Given the description of an element on the screen output the (x, y) to click on. 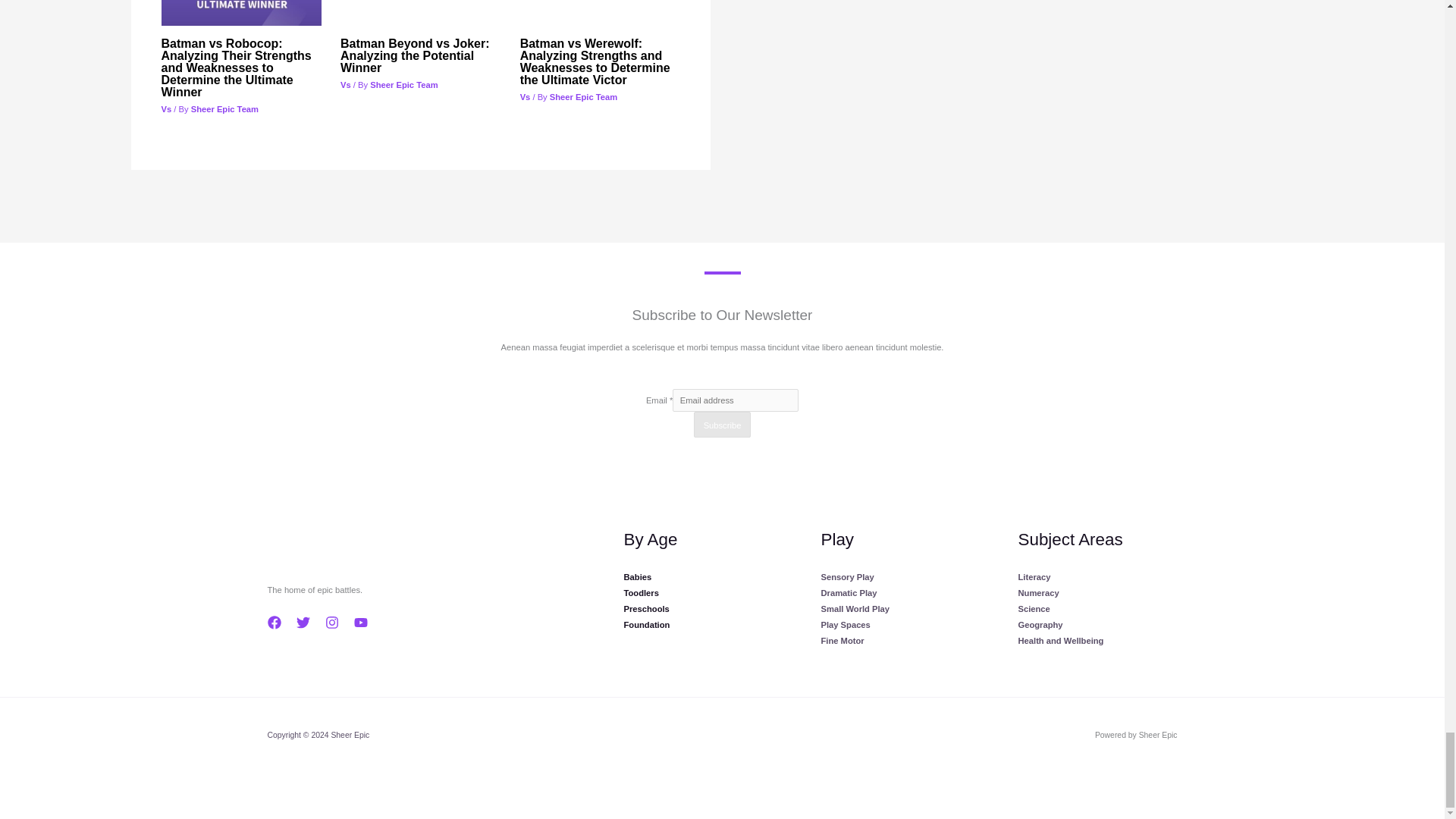
View all posts by Sheer Epic Team (403, 84)
Batman Beyond vs Joker: Analyzing the Potential Winner (414, 55)
Vs (525, 96)
Vs (345, 84)
Vs (165, 108)
View all posts by Sheer Epic Team (224, 108)
Sheer Epic Team (224, 108)
Sheer Epic Team (403, 84)
Sheer Epic Team (583, 96)
View all posts by Sheer Epic Team (583, 96)
